Given the description of an element on the screen output the (x, y) to click on. 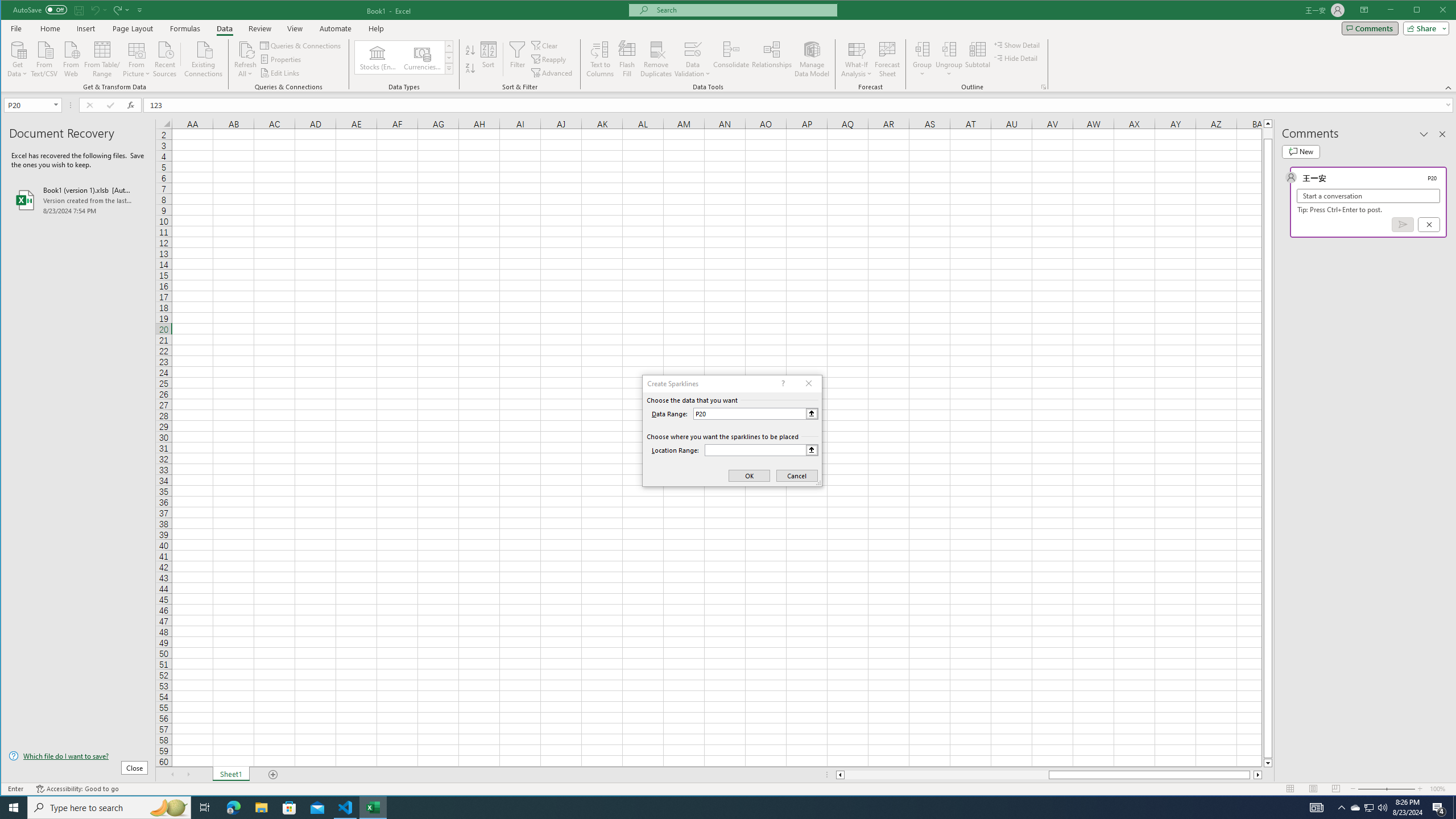
Consolidate... (731, 59)
Sort Largest to Smallest (470, 68)
